Given the description of an element on the screen output the (x, y) to click on. 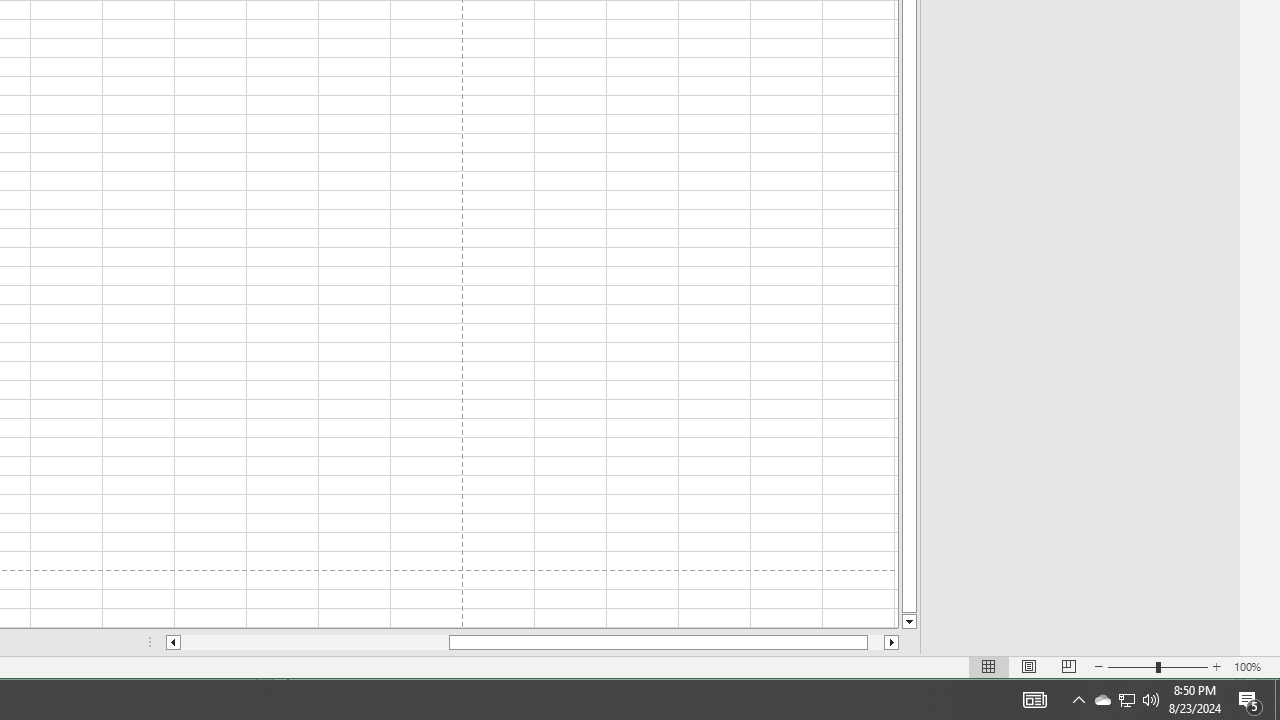
User Promoted Notification Area (1126, 699)
Page left (1102, 699)
Q2790: 100% (314, 642)
AutomationID: 4105 (1151, 699)
Notification Chevron (1034, 699)
Show desktop (1078, 699)
